Given the description of an element on the screen output the (x, y) to click on. 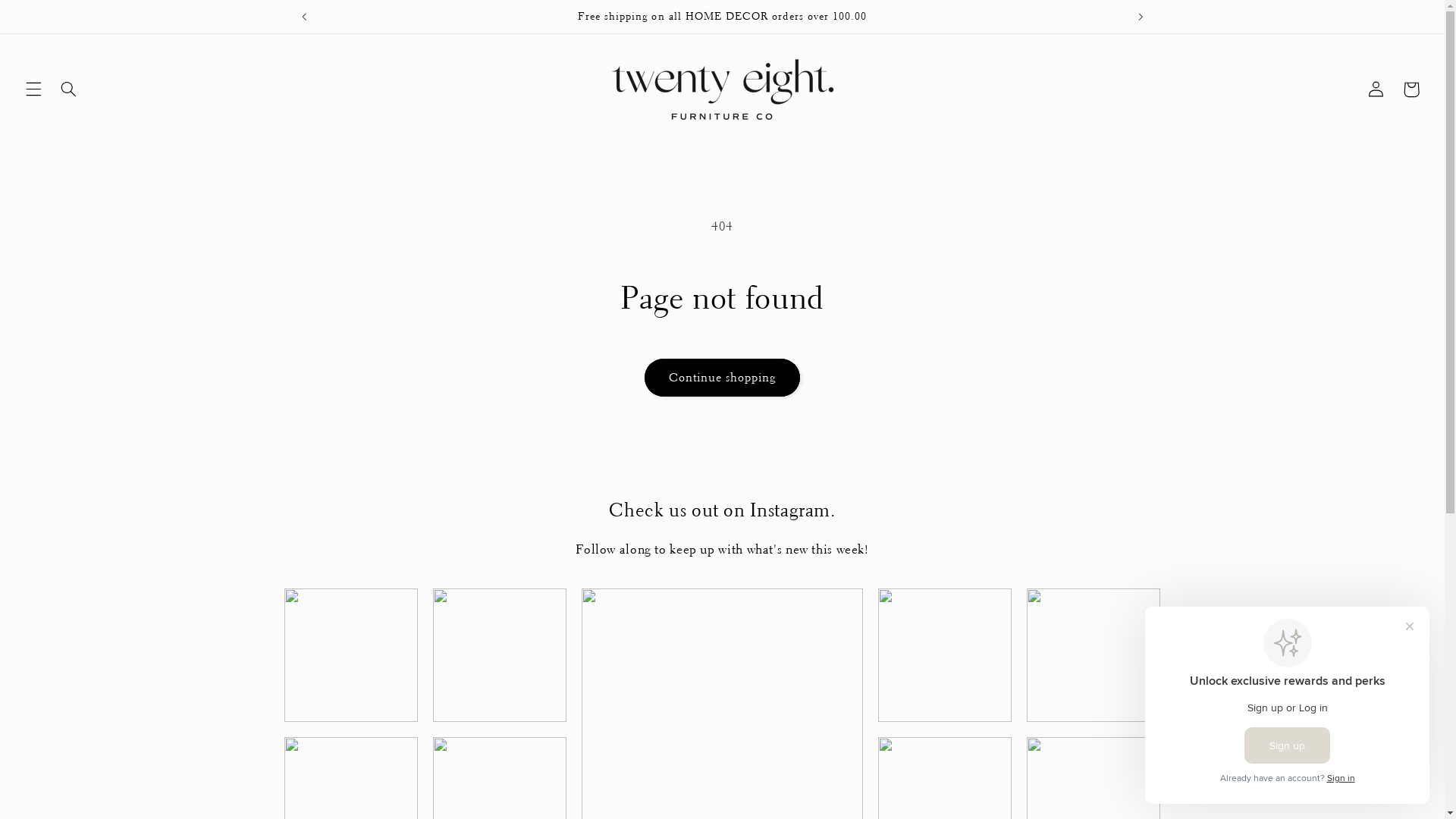
Smile.io Rewards Program Launcher Element type: hover (1373, 780)
Log in Element type: text (1375, 89)
Cart Element type: text (1410, 89)
Smile.io Rewards Program Prompt Element type: hover (1287, 704)
Continue shopping Element type: text (722, 376)
